Given the description of an element on the screen output the (x, y) to click on. 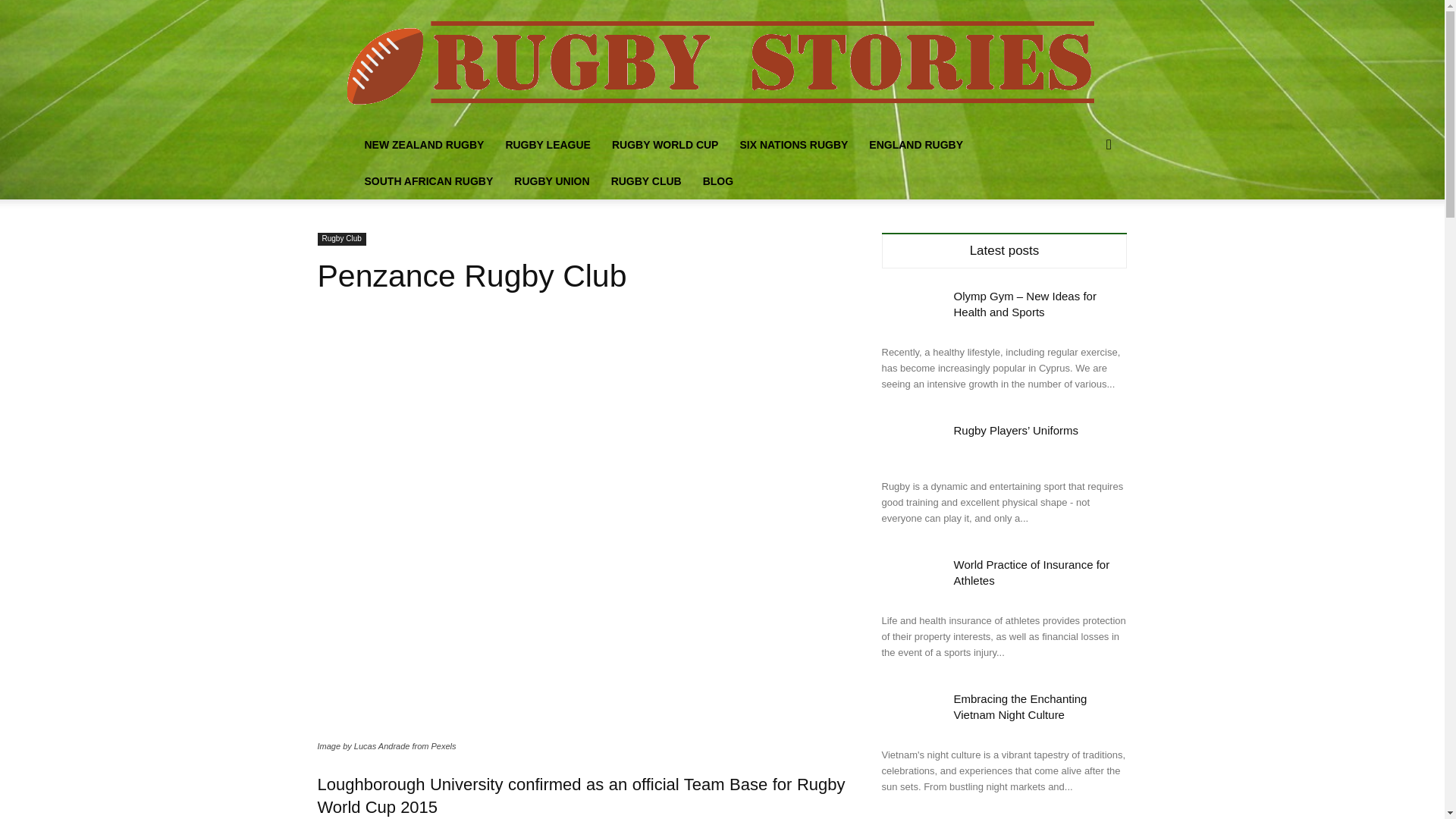
SOUTH AFRICAN RUGBY (428, 180)
RUGBY WORLD CUP (665, 144)
BLOG (718, 180)
Search (1085, 205)
ENGLAND RUGBY (916, 144)
RUGBY LEAGUE (548, 144)
NEW ZEALAND RUGBY (424, 144)
SIX NATIONS RUGBY (794, 144)
Rugby Club (341, 238)
RUGBY CLUB (646, 180)
RUGBY UNION (551, 180)
